Given the description of an element on the screen output the (x, y) to click on. 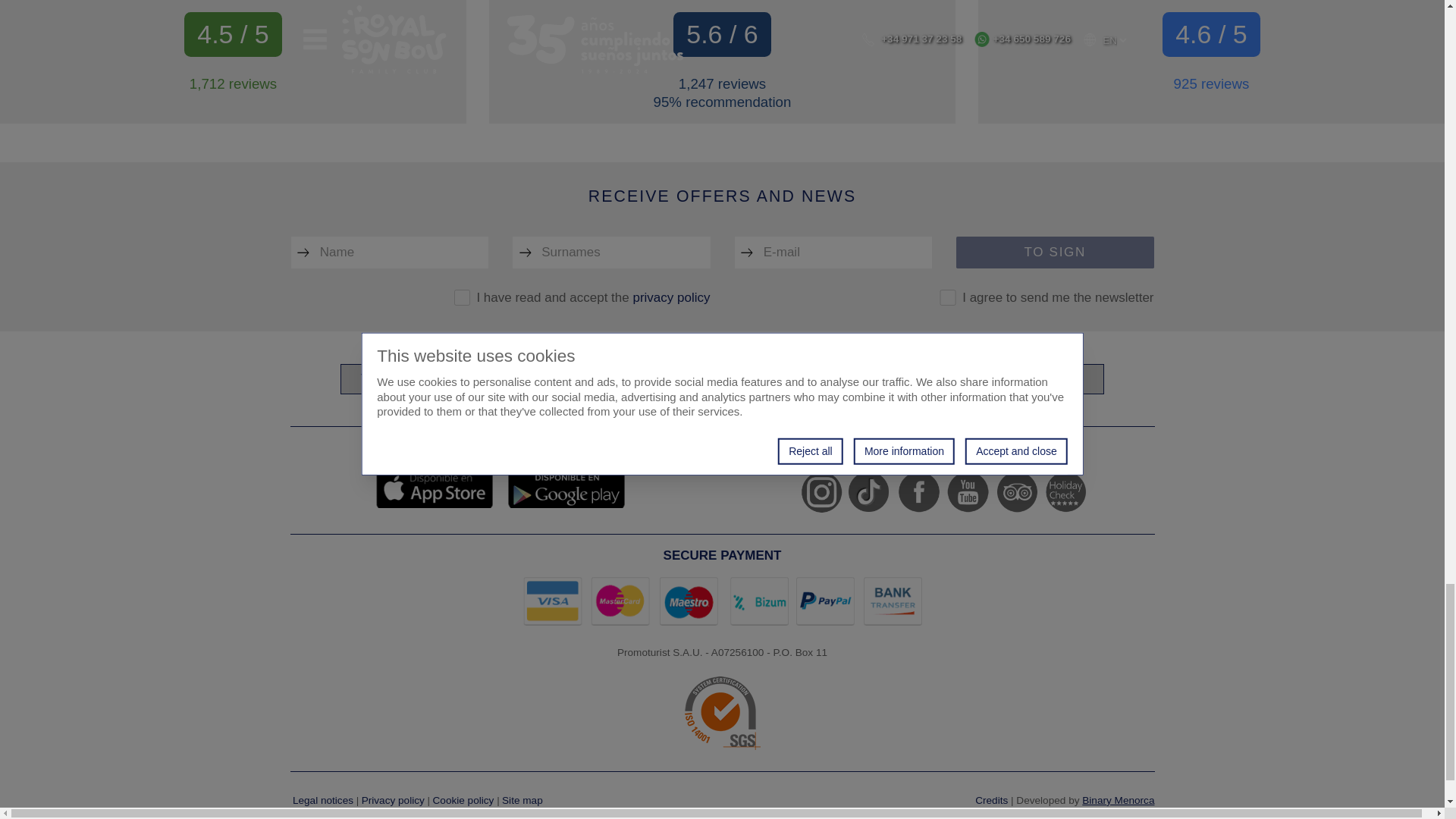
on (462, 297)
privacy policy (670, 297)
Download our APP IOS (434, 488)
on (947, 297)
